Given the description of an element on the screen output the (x, y) to click on. 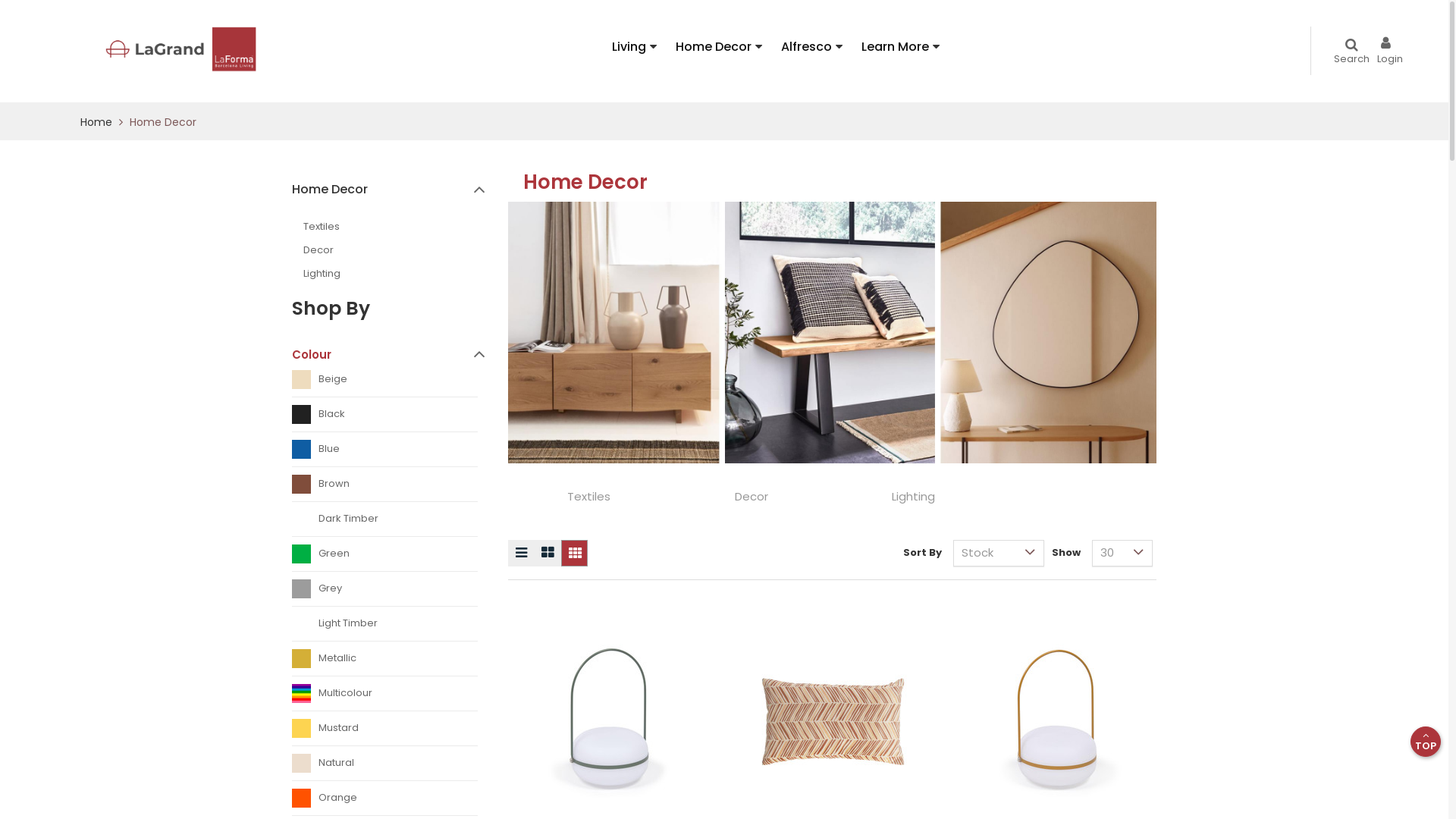
Brown Element type: text (384, 487)
Dark Timber Element type: text (384, 522)
Grey Element type: text (384, 592)
Login Element type: text (1393, 52)
Home Decor Element type: text (718, 46)
Blue Element type: text (384, 452)
Home Element type: text (97, 121)
Colour Element type: text (388, 354)
Textiles Element type: text (588, 496)
Alfresco Element type: text (811, 46)
Green Element type: text (384, 557)
Black Element type: text (384, 417)
Grid Element type: hover (574, 552)
Decor Element type: text (751, 496)
Learn More Element type: text (900, 46)
LaForma Element type: hover (145, 47)
Lighting Element type: text (913, 496)
Beige Element type: text (384, 383)
List Element type: hover (521, 552)
Mustard Element type: text (384, 731)
Multicolour Element type: text (384, 697)
Home Decor Element type: text (393, 189)
Decor Element type: text (399, 250)
Natural Element type: text (384, 766)
Lighting Element type: text (399, 273)
Search Element type: text (1351, 52)
Orange Element type: text (384, 801)
TOP Element type: text (1425, 741)
Light Timber Element type: text (384, 627)
Metallic Element type: text (384, 662)
Table Element type: hover (547, 552)
Living Element type: text (634, 46)
Textiles Element type: text (399, 226)
